Given the description of an element on the screen output the (x, y) to click on. 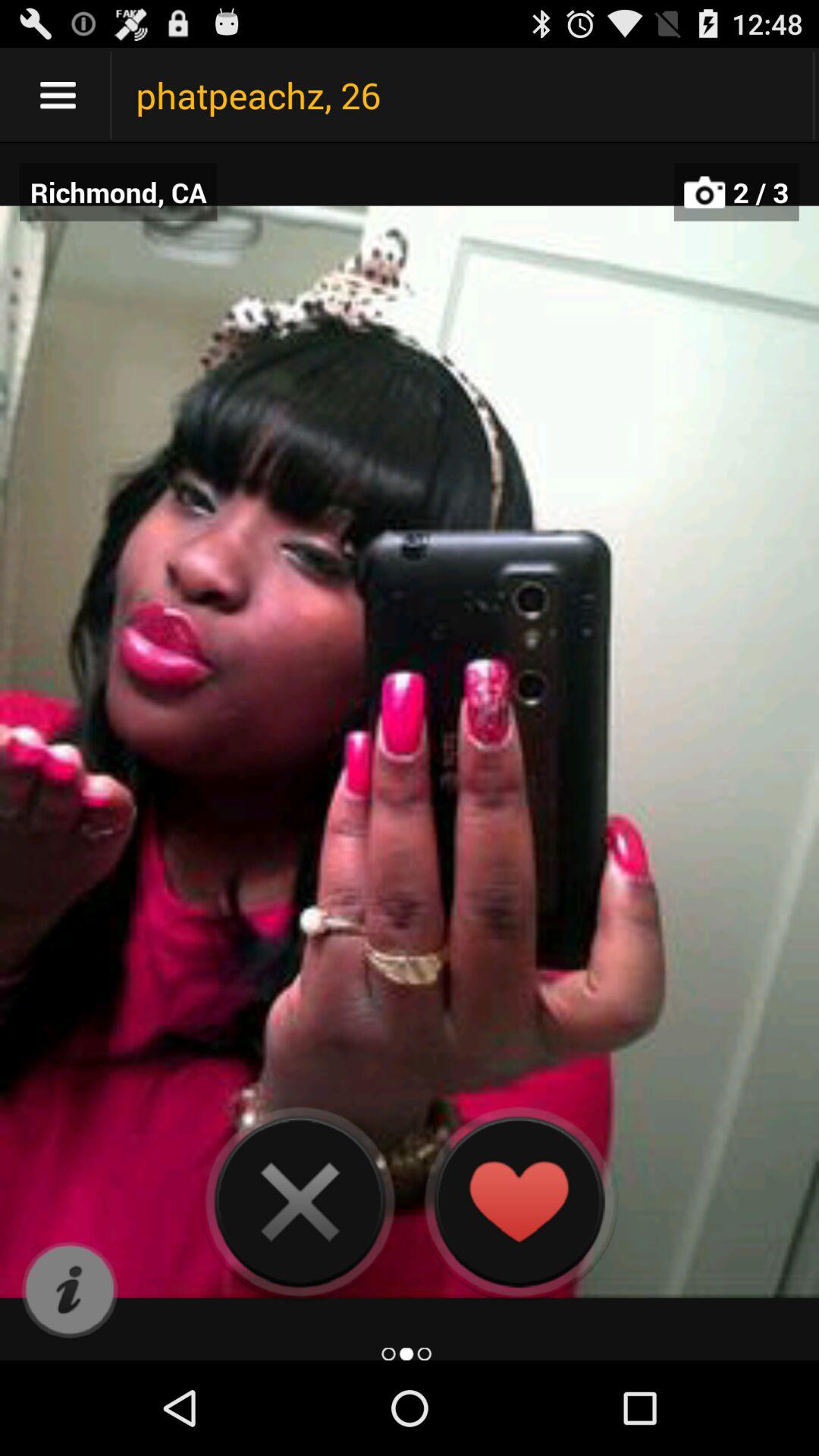
toggle favorite (518, 1200)
